Given the description of an element on the screen output the (x, y) to click on. 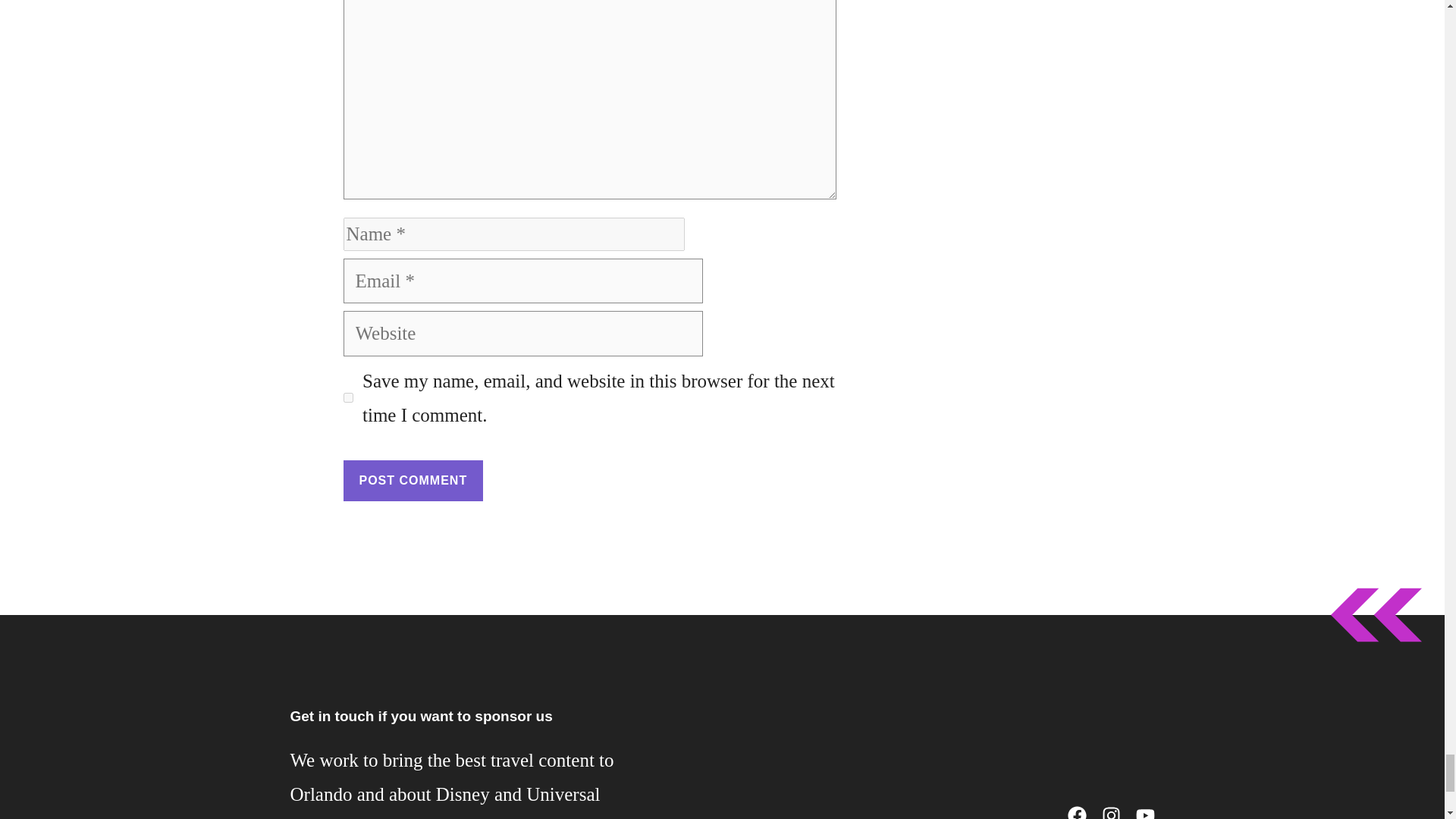
Post Comment (412, 480)
yes (347, 397)
